Given the description of an element on the screen output the (x, y) to click on. 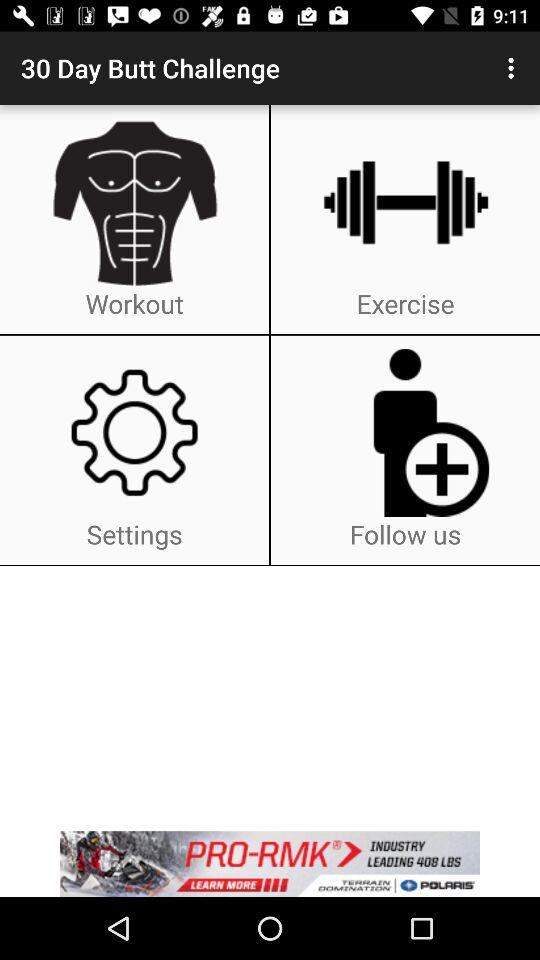
advertisement link (270, 864)
